Given the description of an element on the screen output the (x, y) to click on. 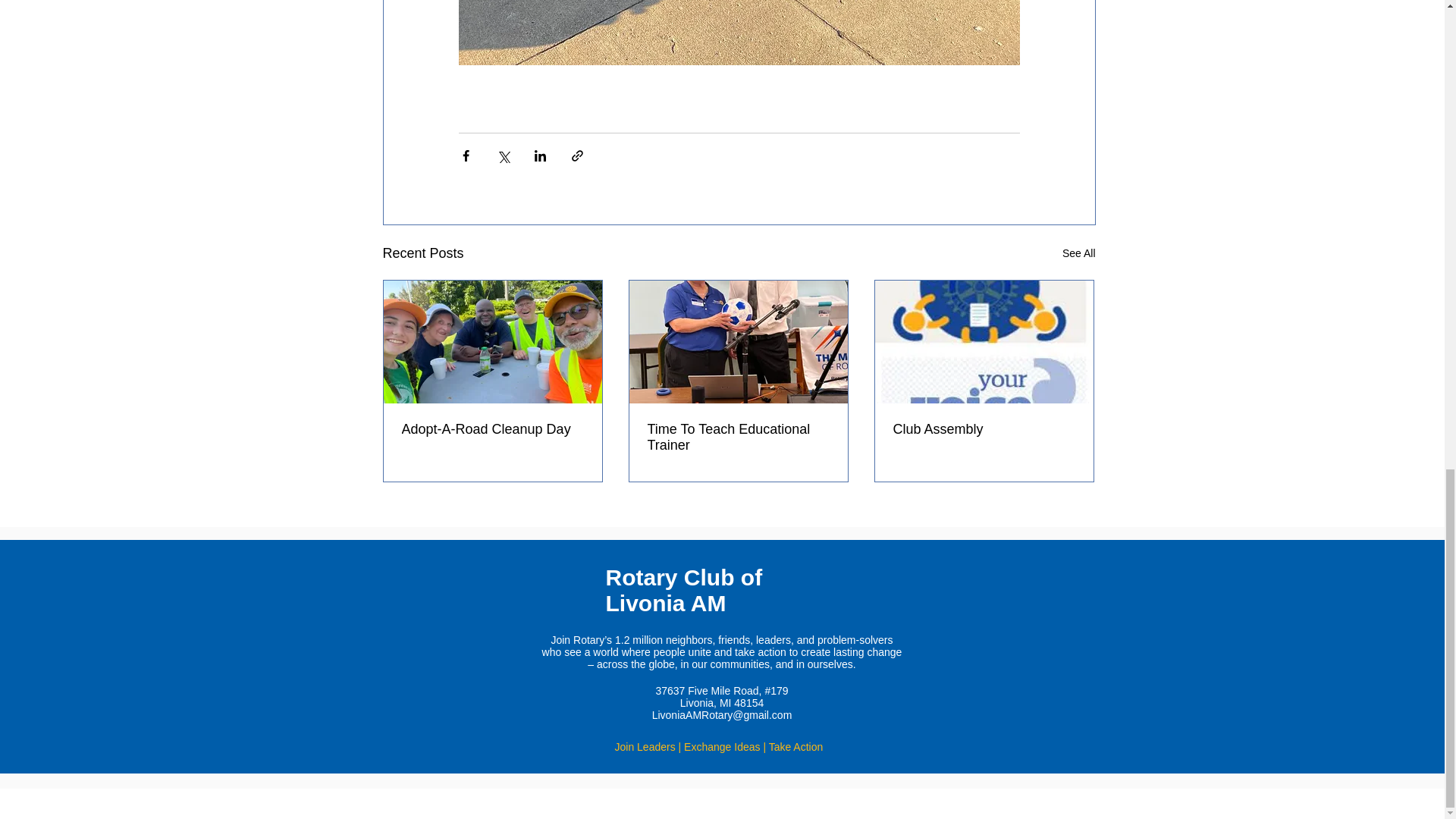
Time To Teach Educational Trainer (738, 437)
Adopt-A-Road Cleanup Day (492, 429)
Club Assembly (984, 429)
See All (1079, 253)
